Given the description of an element on the screen output the (x, y) to click on. 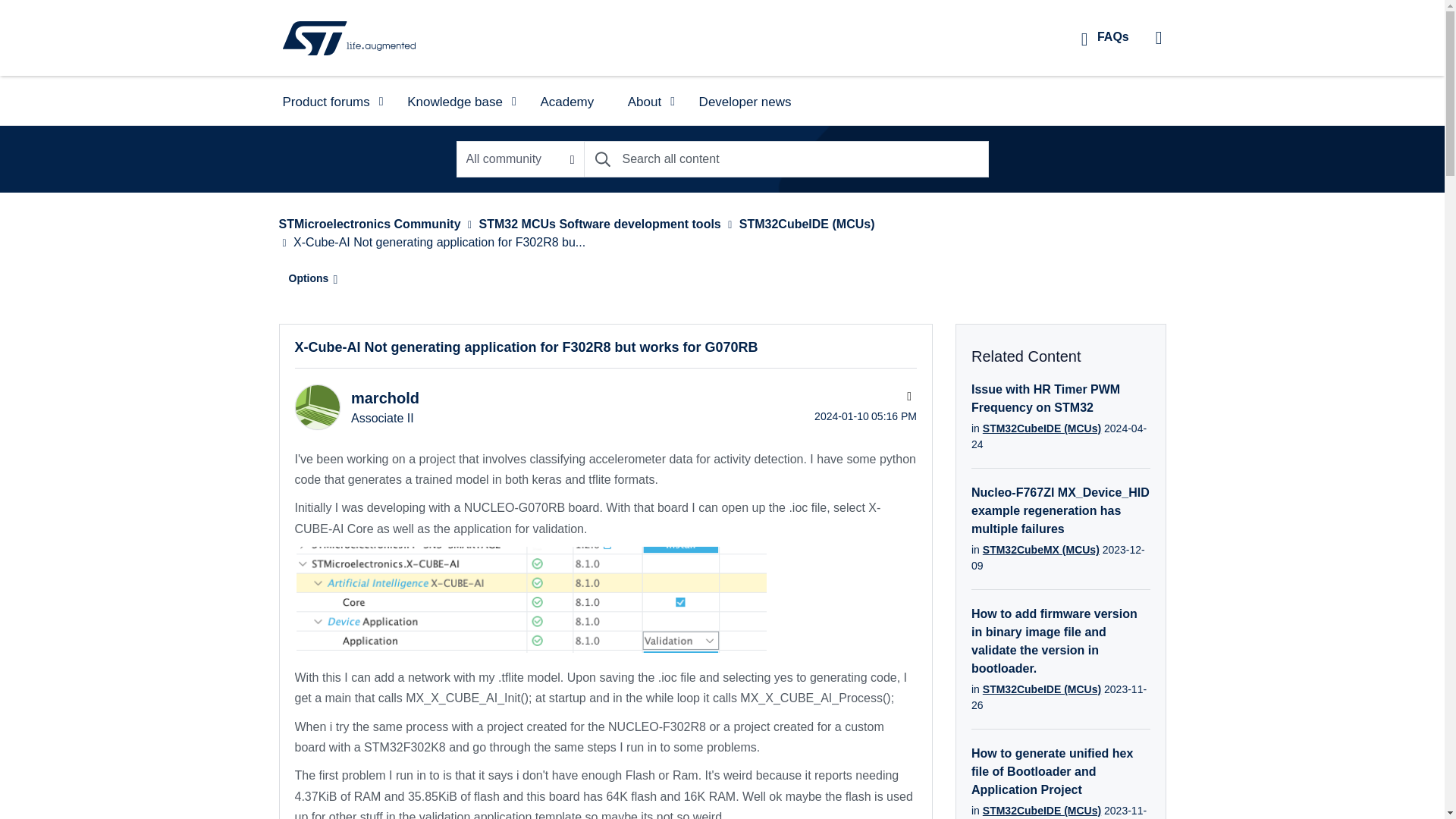
Search (602, 159)
Search Granularity (520, 158)
marchold (316, 406)
Search (785, 158)
Product forums (327, 100)
STMicroelectronics Community (348, 37)
Search (602, 159)
FAQs (1105, 35)
Show option menu (309, 277)
Screenshot 2024-01-10 at 4.35.13 PM.png (529, 599)
